Given the description of an element on the screen output the (x, y) to click on. 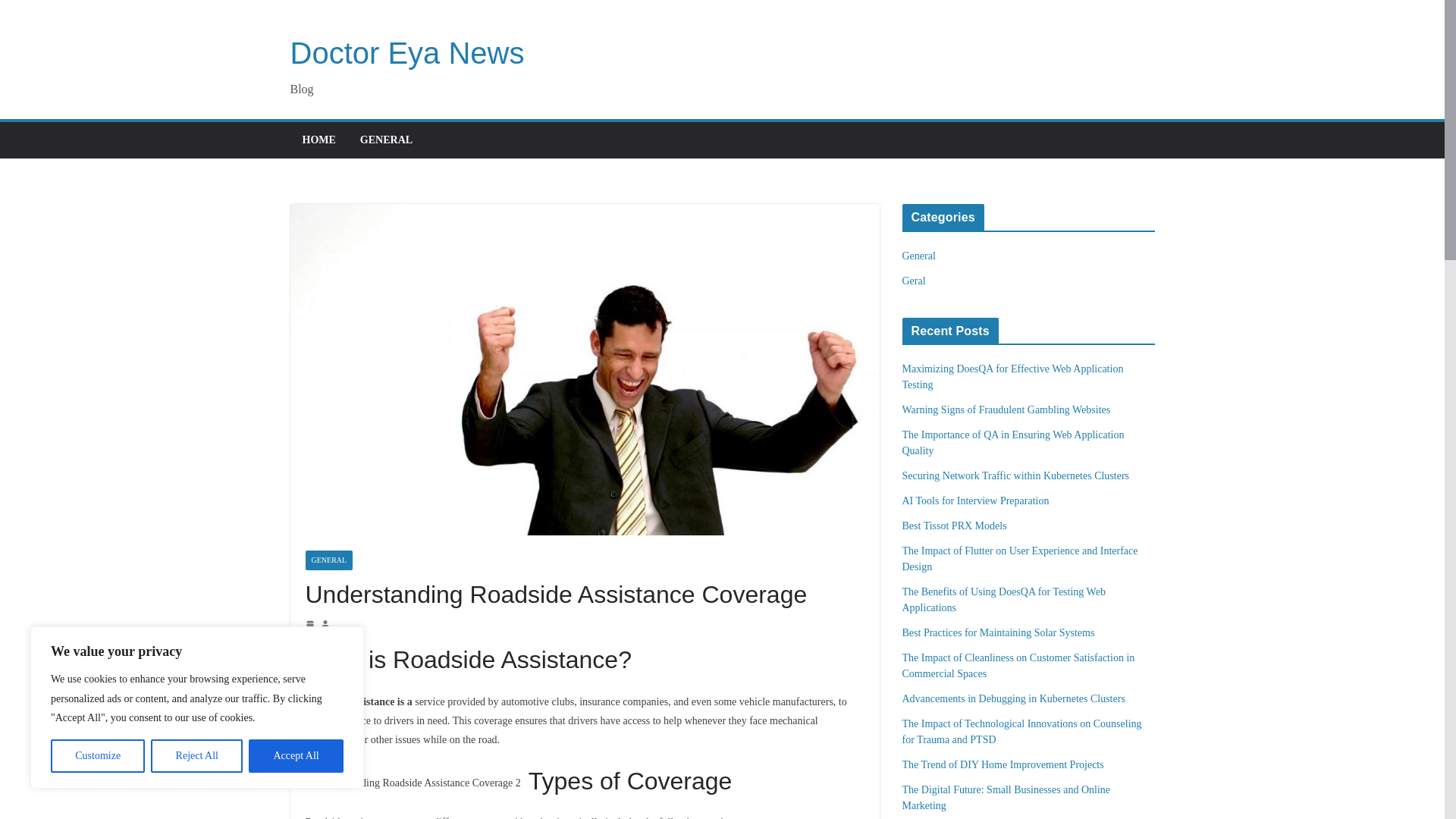
Best Tissot PRX Models (954, 525)
AI Tools for Interview Preparation (975, 500)
HOME (317, 139)
Maximizing DoesQA for Effective Web Application Testing (1013, 376)
Geral (914, 280)
The Importance of QA in Ensuring Web Application Quality (1013, 442)
Doctor Eya News (406, 52)
Accept All (295, 756)
Warning Signs of Fraudulent Gambling Websites (1006, 409)
